Given the description of an element on the screen output the (x, y) to click on. 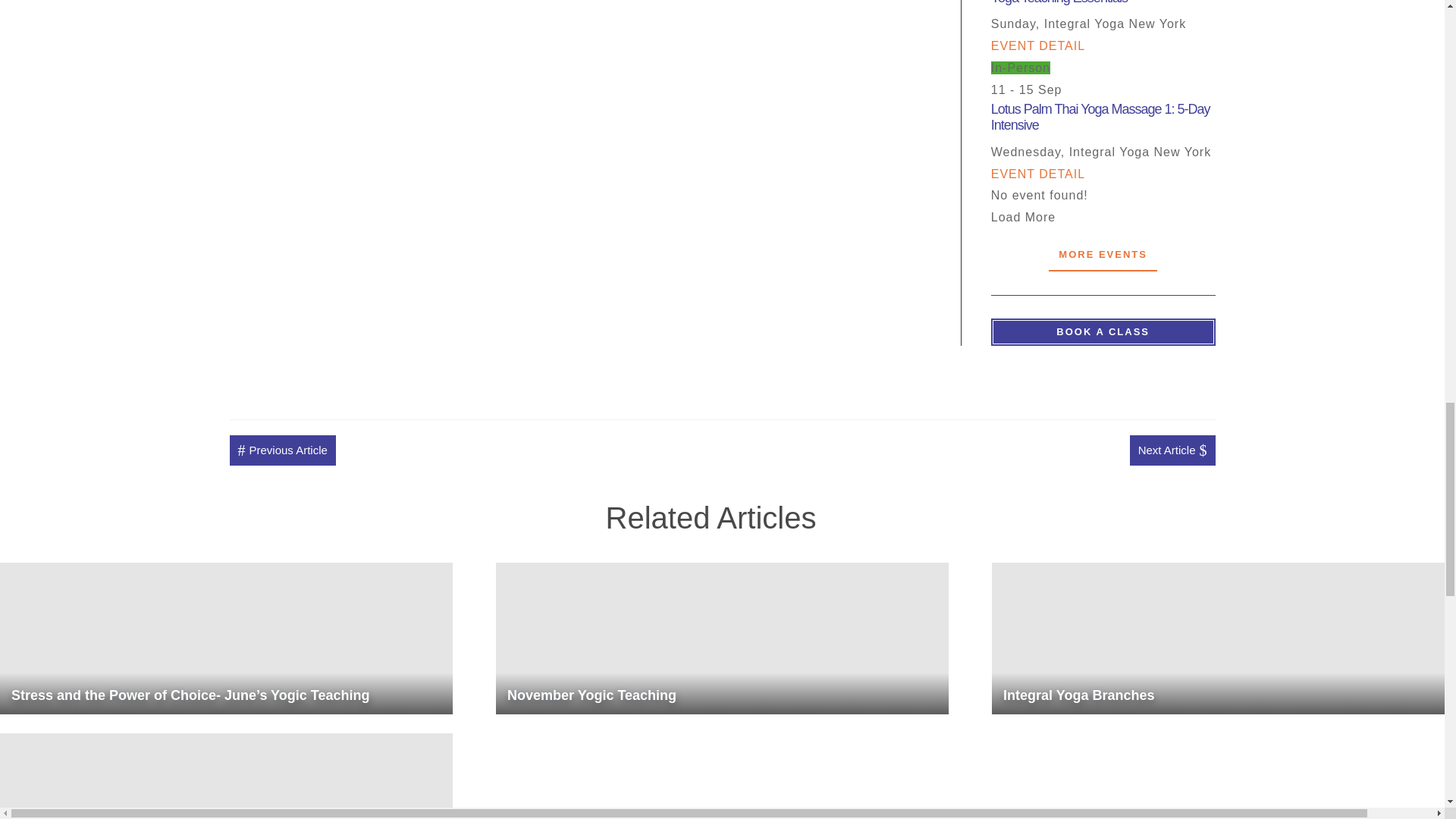
What do you love about Integral Yoga? (226, 776)
Integral Yoga Branches (1217, 638)
November Yogic Teaching (722, 638)
